Given the description of an element on the screen output the (x, y) to click on. 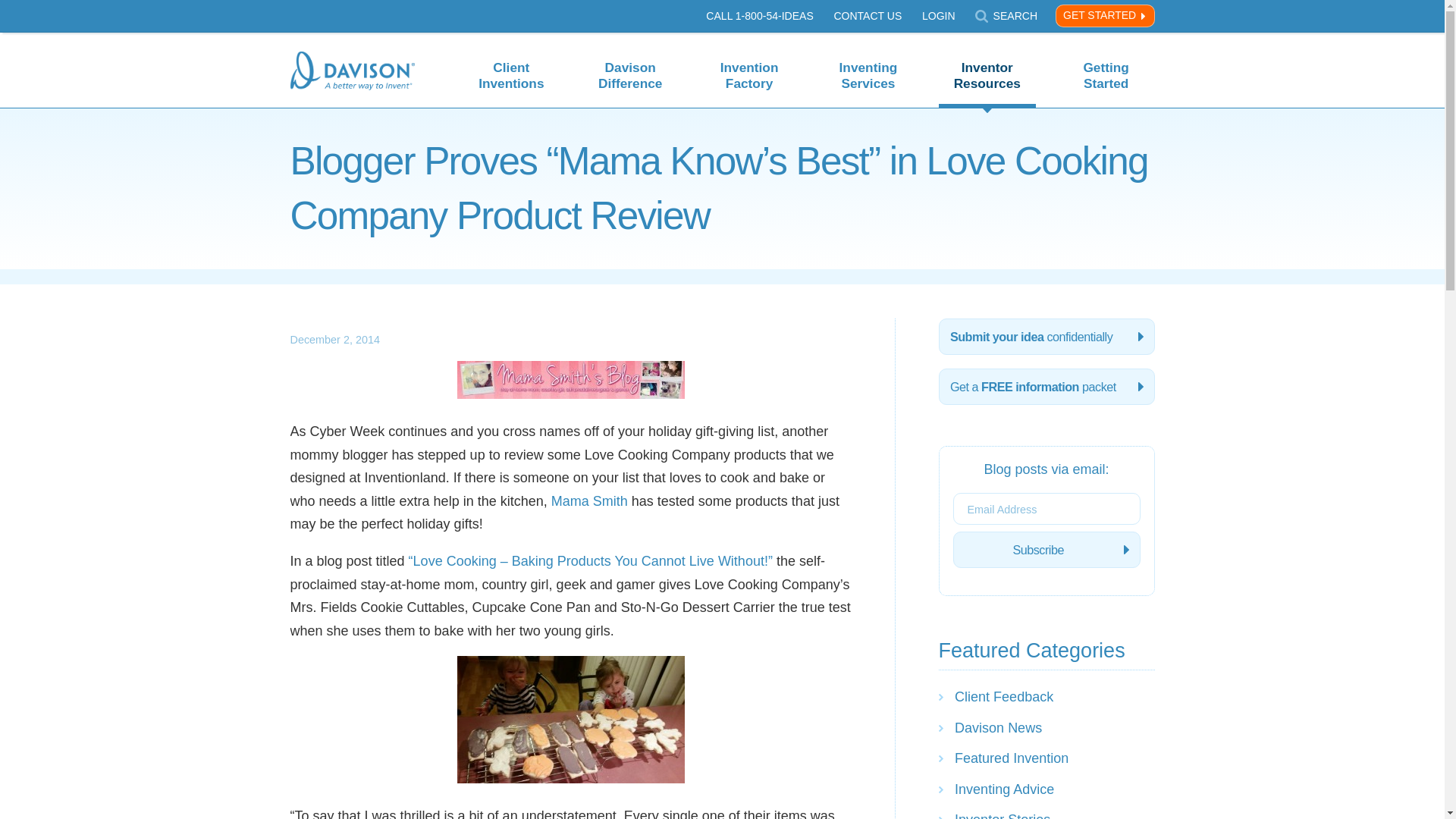
Submit (1035, 15)
Submit (1035, 15)
Davison's Home Page (351, 72)
Getting Started (1106, 65)
Inventor Resources (987, 65)
Inventing Services (868, 65)
SEARCH (1005, 16)
GET STARTED (1104, 15)
Subscribe (1046, 549)
Invention Factory (748, 65)
LOGIN (938, 15)
Davison Difference (629, 65)
CONTACT US (866, 15)
CALL 1-800-54-IDEAS (759, 15)
Client Inventions (511, 65)
